Given the description of an element on the screen output the (x, y) to click on. 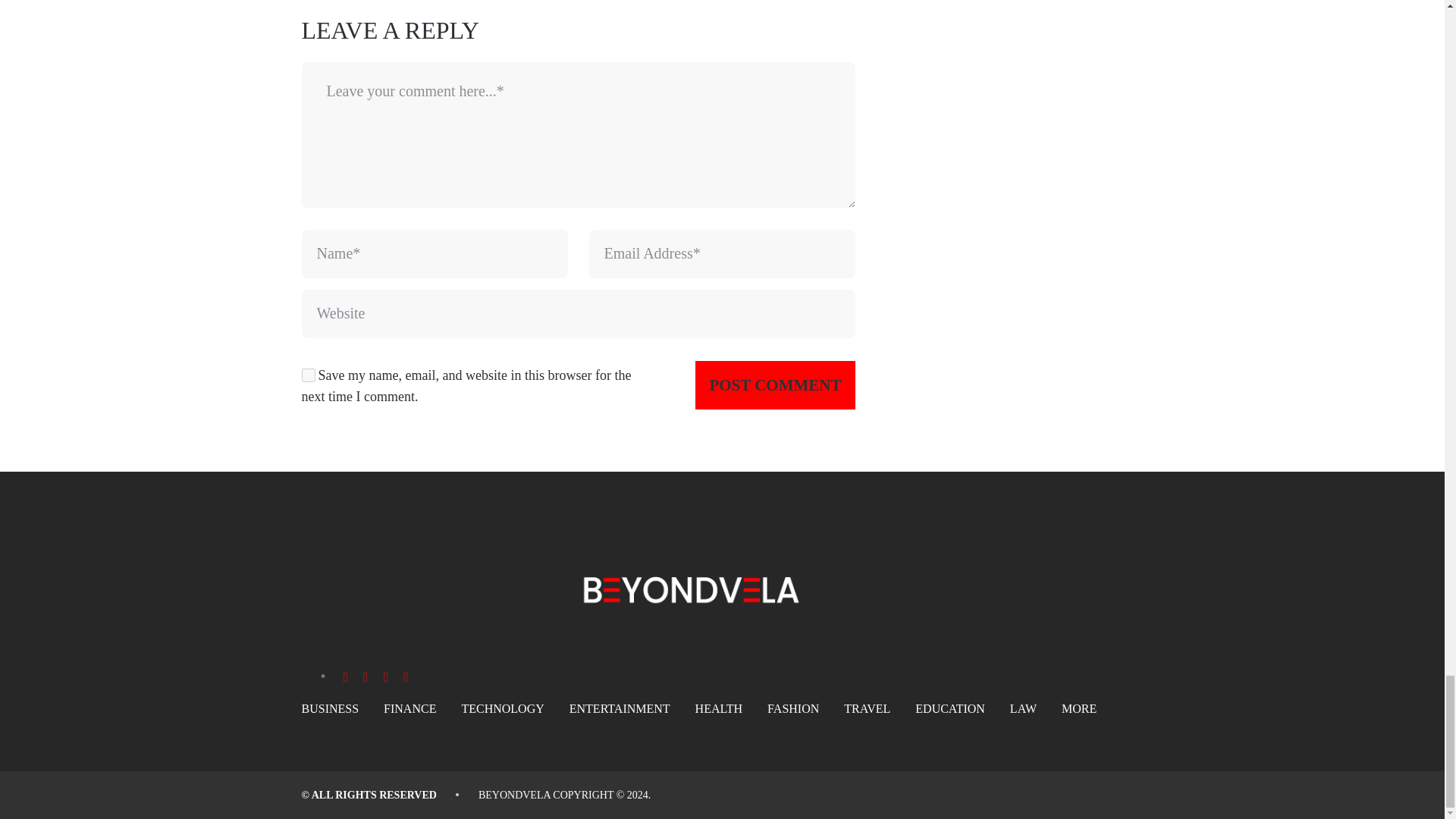
Post Comment (774, 385)
yes (308, 375)
 Top Magazine 2020 (514, 794)
